Given the description of an element on the screen output the (x, y) to click on. 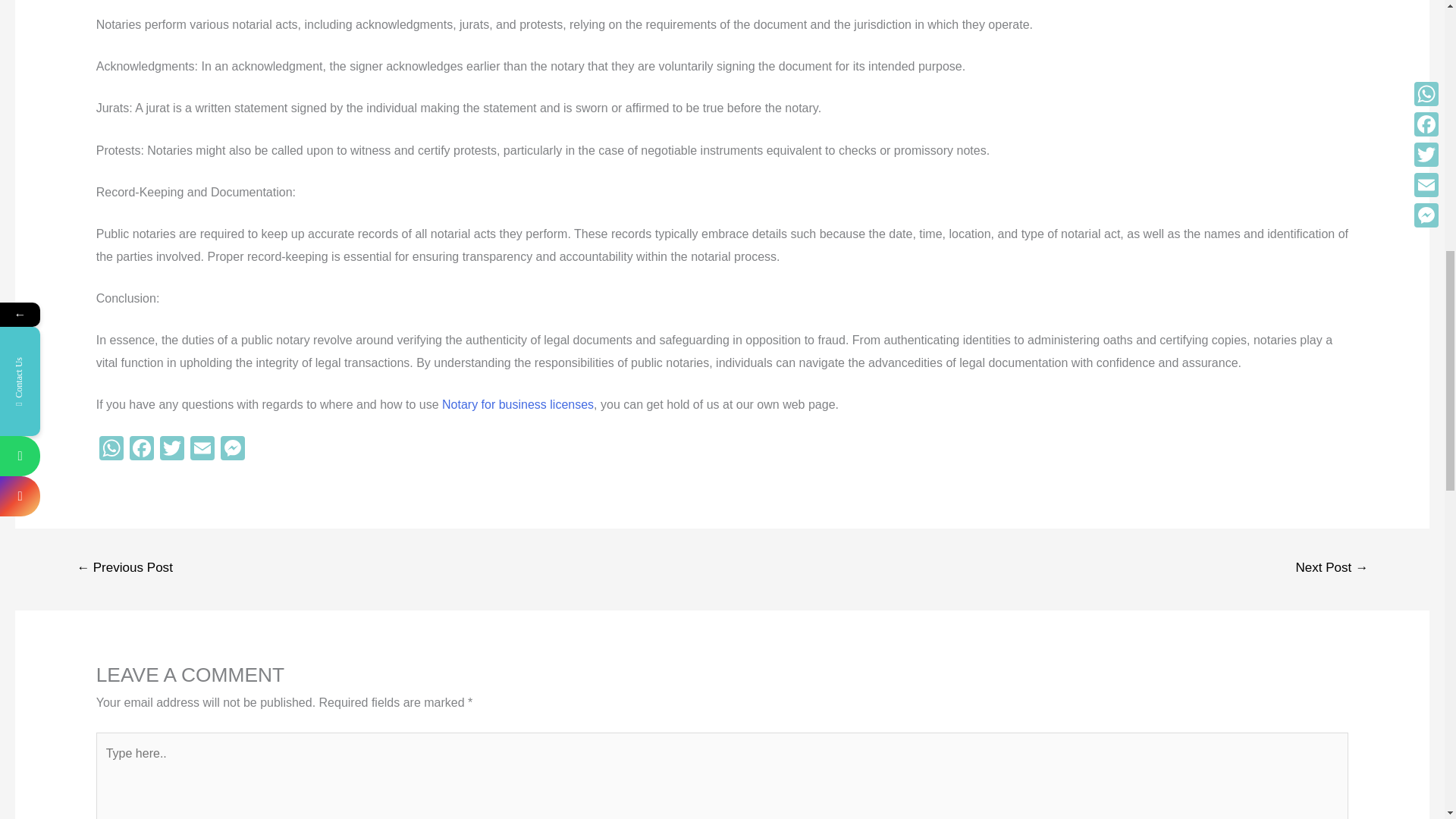
Twitter (172, 449)
Twitter (172, 449)
Messenger (231, 449)
WhatsApp (111, 449)
Email (201, 449)
Messenger (231, 449)
Email (201, 449)
Facebook (141, 449)
WhatsApp (111, 449)
Facebook (141, 449)
